Given the description of an element on the screen output the (x, y) to click on. 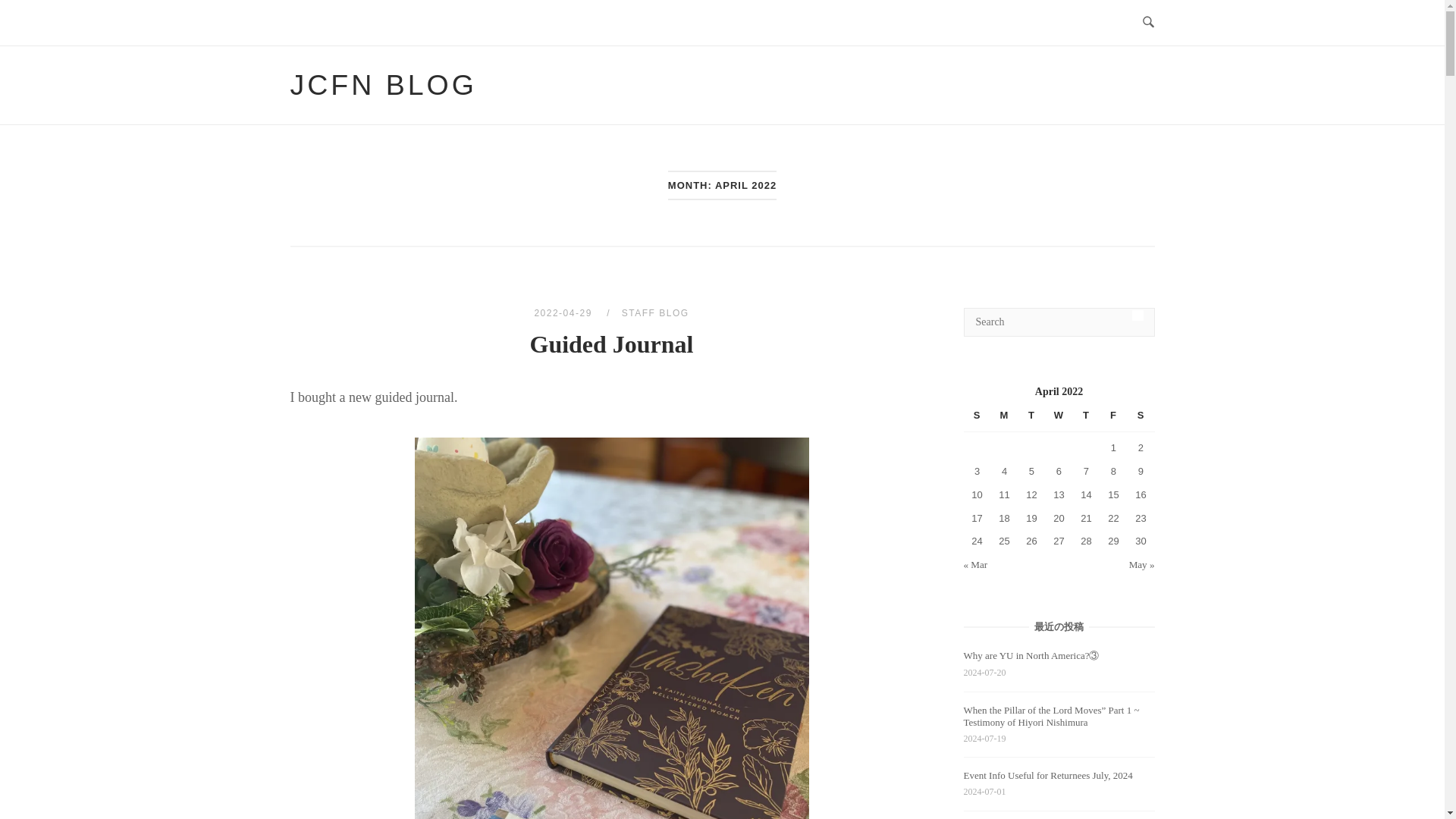
Thursday (1085, 419)
2022-04-29 (564, 312)
JCFN BLOG (382, 84)
Guided Journal (611, 343)
STAFF BLOG (654, 312)
Guided Journal (564, 312)
Saturday (1140, 419)
Sunday (977, 419)
Tuesday (1031, 419)
Wednesday (1058, 419)
Monday (1003, 419)
Friday (1112, 419)
